Given the description of an element on the screen output the (x, y) to click on. 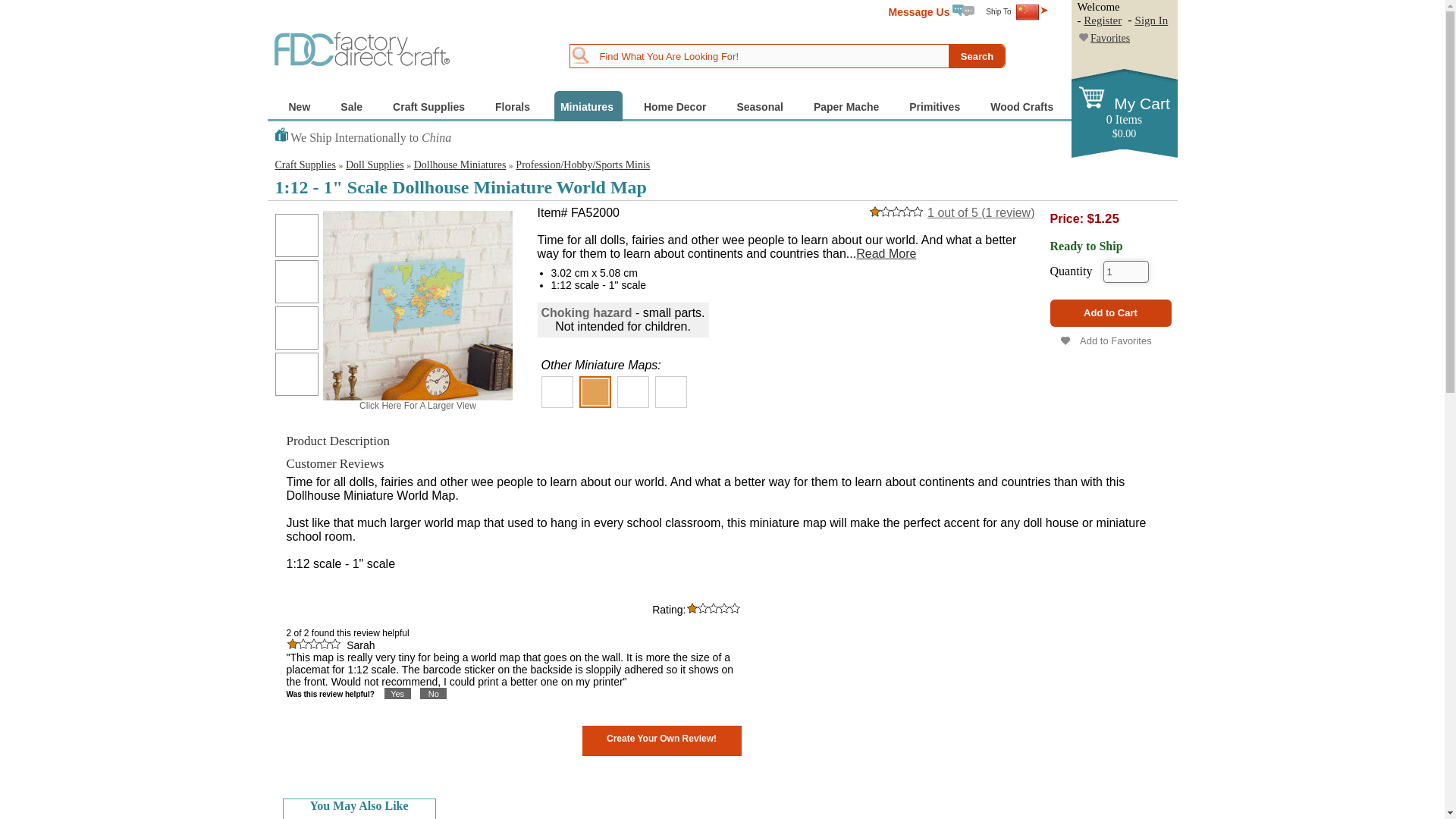
Paper Mache (848, 105)
Message Us (931, 11)
Doll Supplies (375, 164)
Read More (885, 253)
1 Star Average Rating (713, 607)
Wood Crafts (1023, 105)
Sale (352, 105)
Craft Supplies (305, 164)
Go to the home page (362, 48)
Add to Cart (1109, 311)
Craft Supplies (430, 105)
Primitives (935, 105)
Add to Cart (1109, 311)
Sign In (1152, 19)
Add to Favorites (1109, 340)
